Given the description of an element on the screen output the (x, y) to click on. 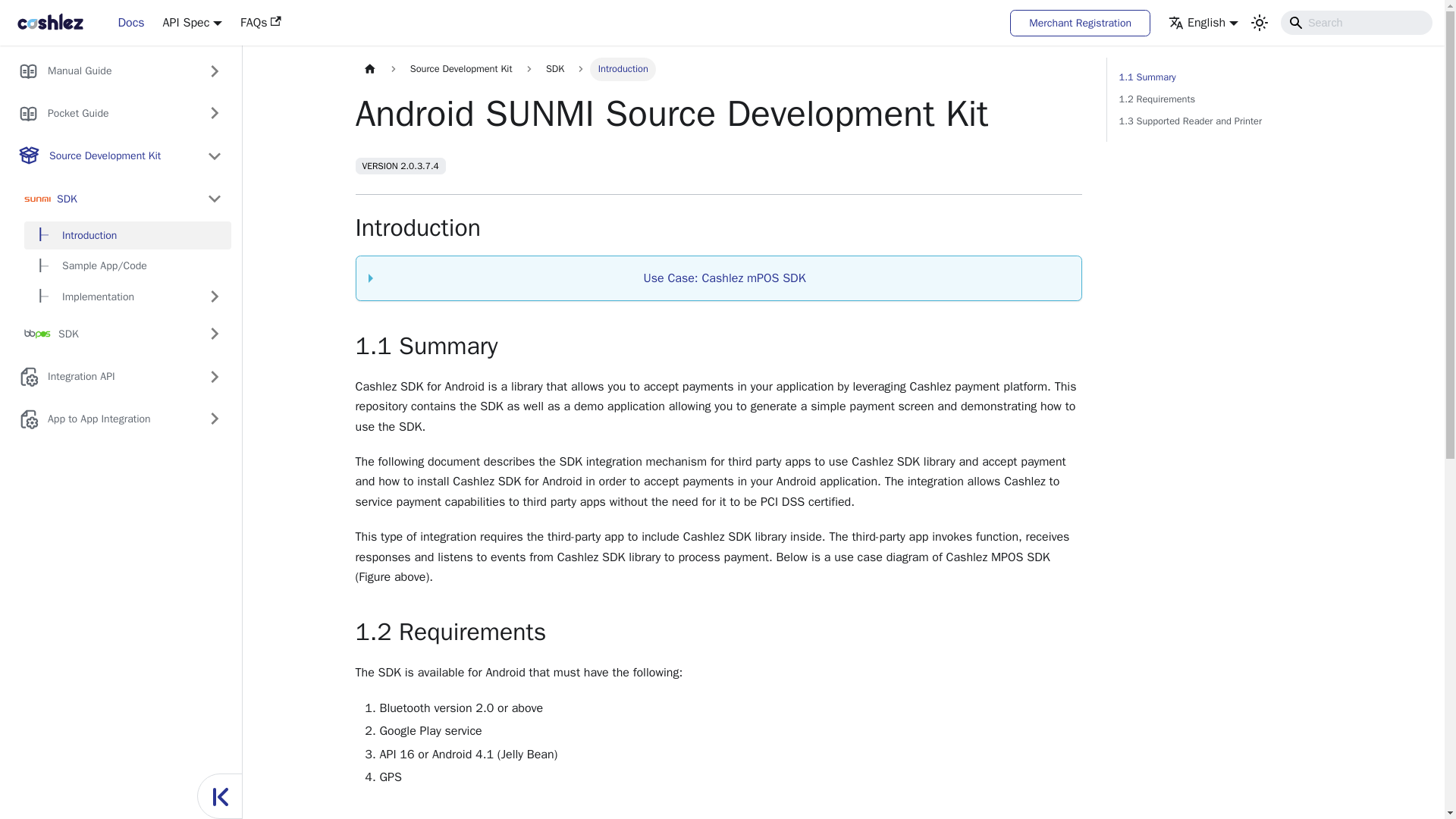
SDK (122, 198)
Docs (129, 22)
English (1204, 22)
Implementation (111, 296)
Integration API (101, 376)
Pocket Guide (101, 113)
API Spec (192, 22)
Manual Guide (101, 70)
Collapse sidebar (219, 796)
1.1 Summary (1222, 77)
FAQs (260, 22)
Source Development Kit (461, 69)
Merchant Registration (1080, 22)
Introduction (127, 235)
